Given the description of an element on the screen output the (x, y) to click on. 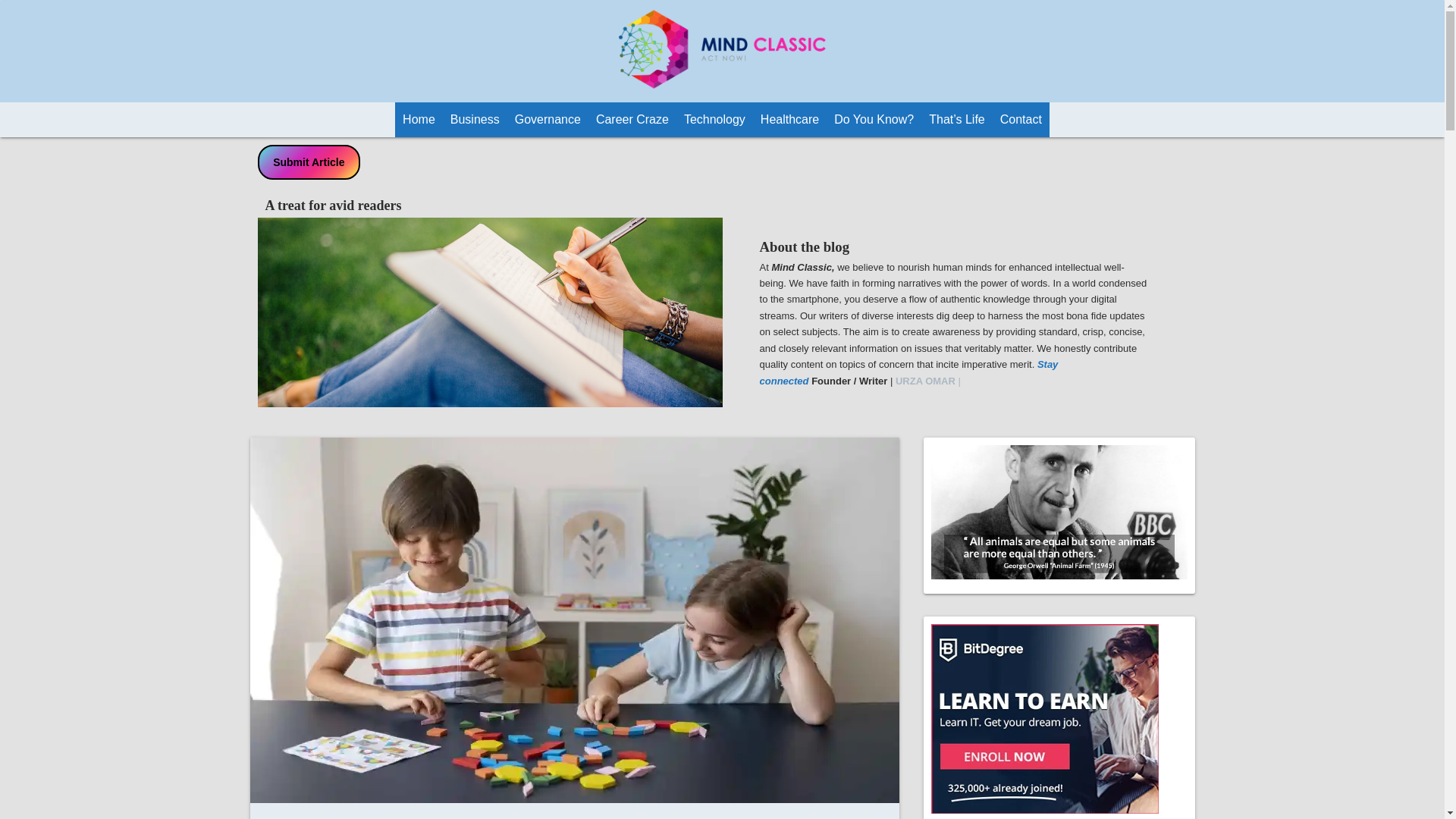
Technology (714, 119)
Home (419, 119)
Career Craze (631, 119)
Healthcare (789, 119)
Contact (1021, 119)
Business (474, 119)
Governance (547, 119)
Submit Article (309, 161)
Do You Know? (874, 119)
